Given the description of an element on the screen output the (x, y) to click on. 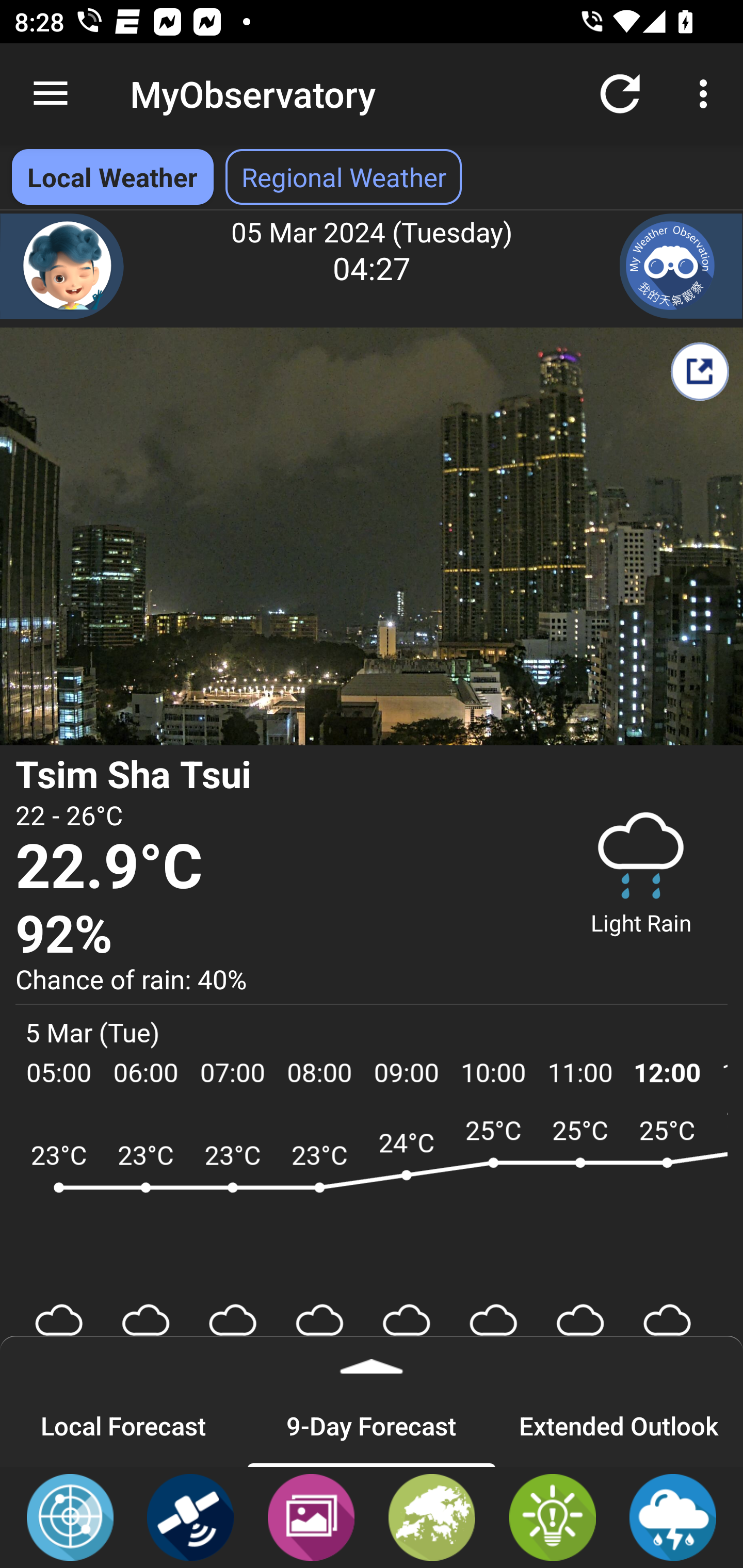
Navigate up (50, 93)
Refresh (619, 93)
More options (706, 93)
Local Weather Local Weather selected (112, 176)
Regional Weather Select Regional Weather (343, 176)
Chatbot (62, 266)
My Weather Observation (680, 265)
Share My Weather Report (699, 371)
22.9°C Temperature
22.9 degree Celsius (276, 867)
92% Relative Humidity
92 percent (276, 934)
Expand (371, 1358)
Local Forecast (123, 1424)
Extended Outlook (619, 1424)
Radar Images (69, 1516)
Satellite Images (190, 1516)
Weather Photos (310, 1516)
Regional Weather (431, 1516)
Weather Tips (551, 1516)
Loc-based Rainfall & Lightning Forecast (672, 1516)
